Given the description of an element on the screen output the (x, y) to click on. 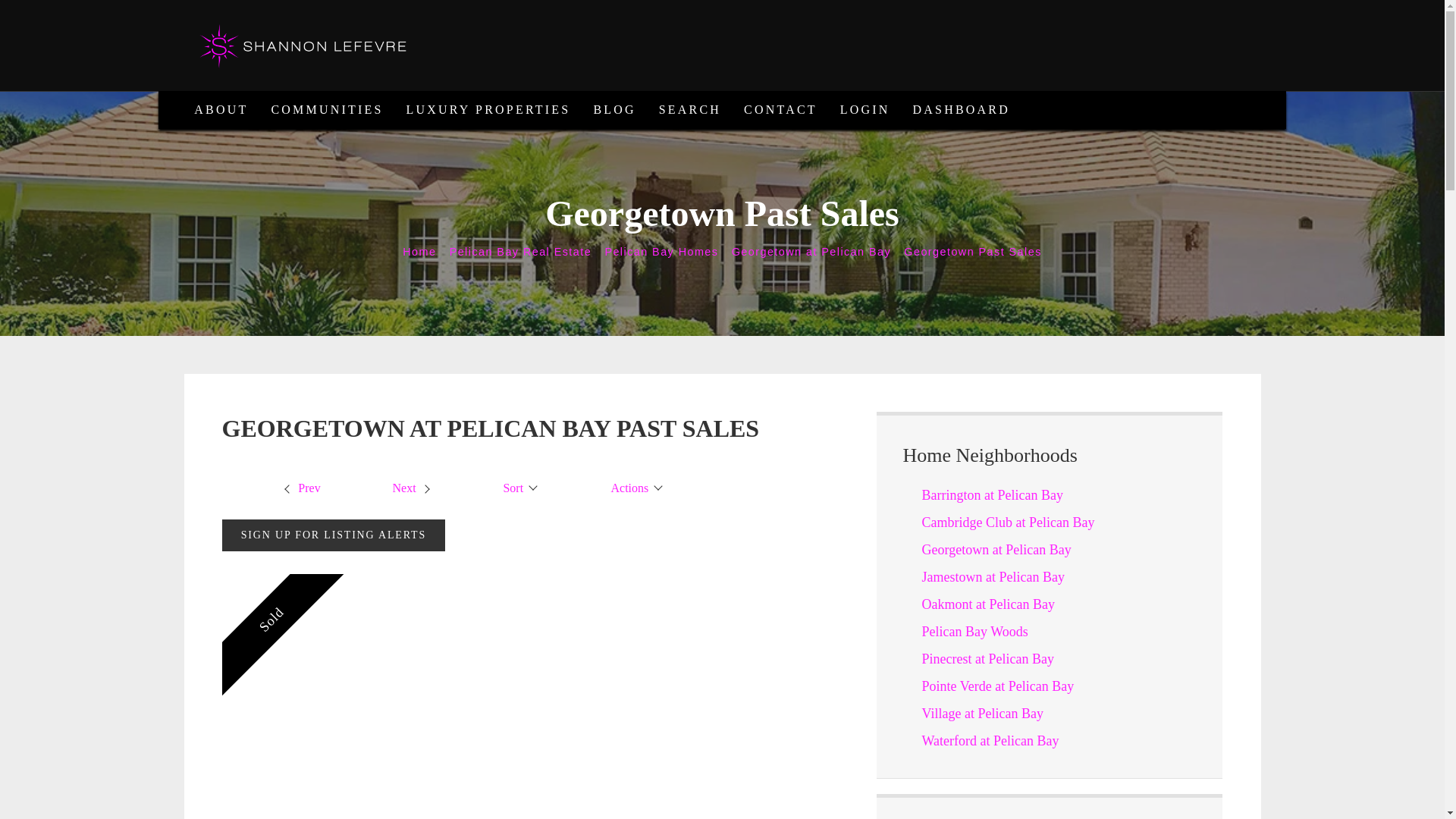
ABOUT (221, 109)
COMMUNITIES (326, 109)
matches (751, 487)
Next property (412, 487)
actions (636, 487)
LUXURY PROPERTIES (488, 109)
BLOG (613, 109)
Previous property (301, 487)
sort (520, 487)
SEARCH (689, 109)
